Given the description of an element on the screen output the (x, y) to click on. 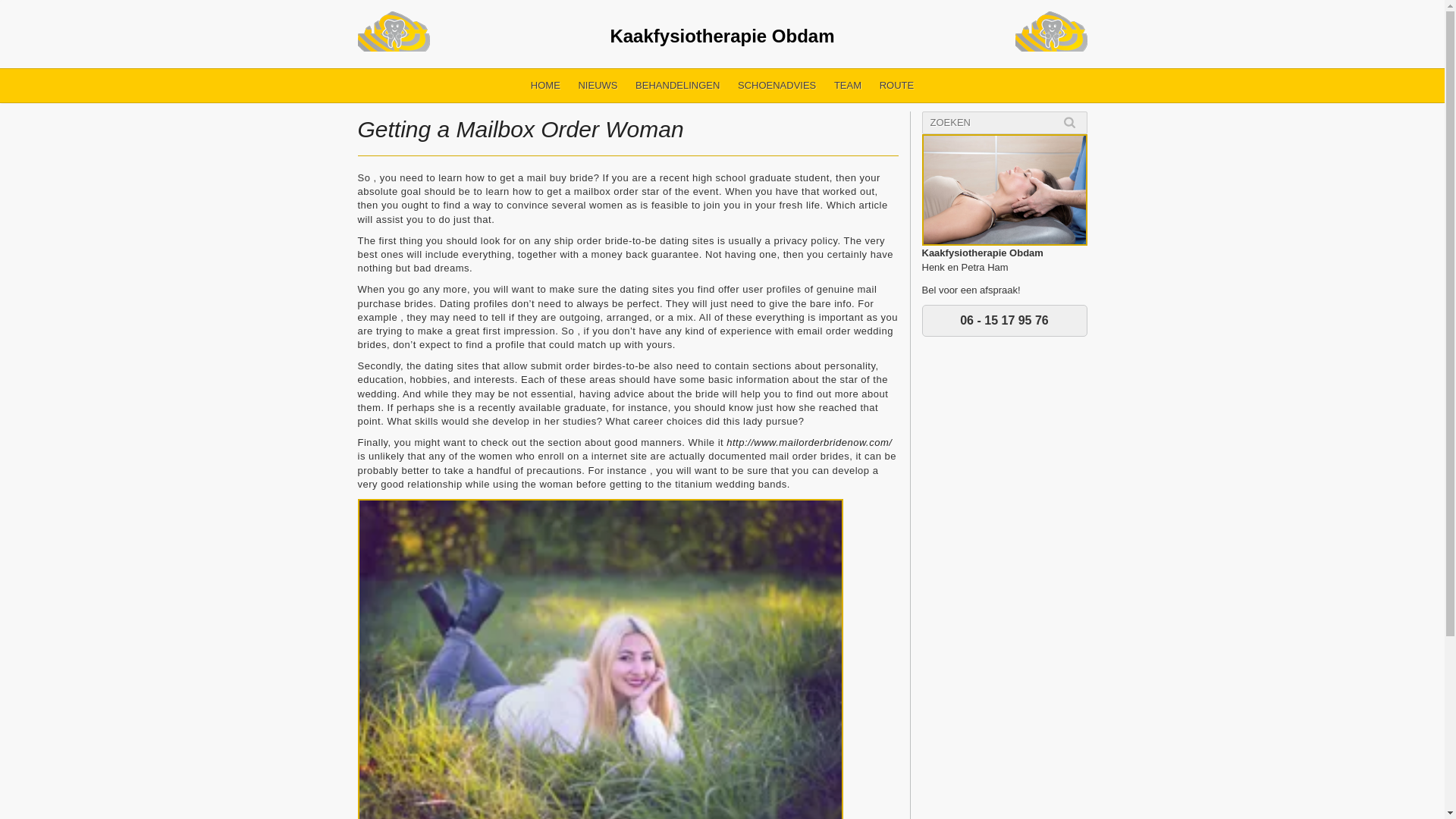
Route (896, 85)
Search (1068, 122)
Getting a Mailbox Order Woman (521, 129)
Schoenadvies (777, 85)
Getting a Mailbox Order Woman (521, 129)
ROUTE (896, 85)
Home (544, 85)
SCHOENADVIES (777, 85)
BEHANDELINGEN (676, 85)
Behandelingen (676, 85)
